Given the description of an element on the screen output the (x, y) to click on. 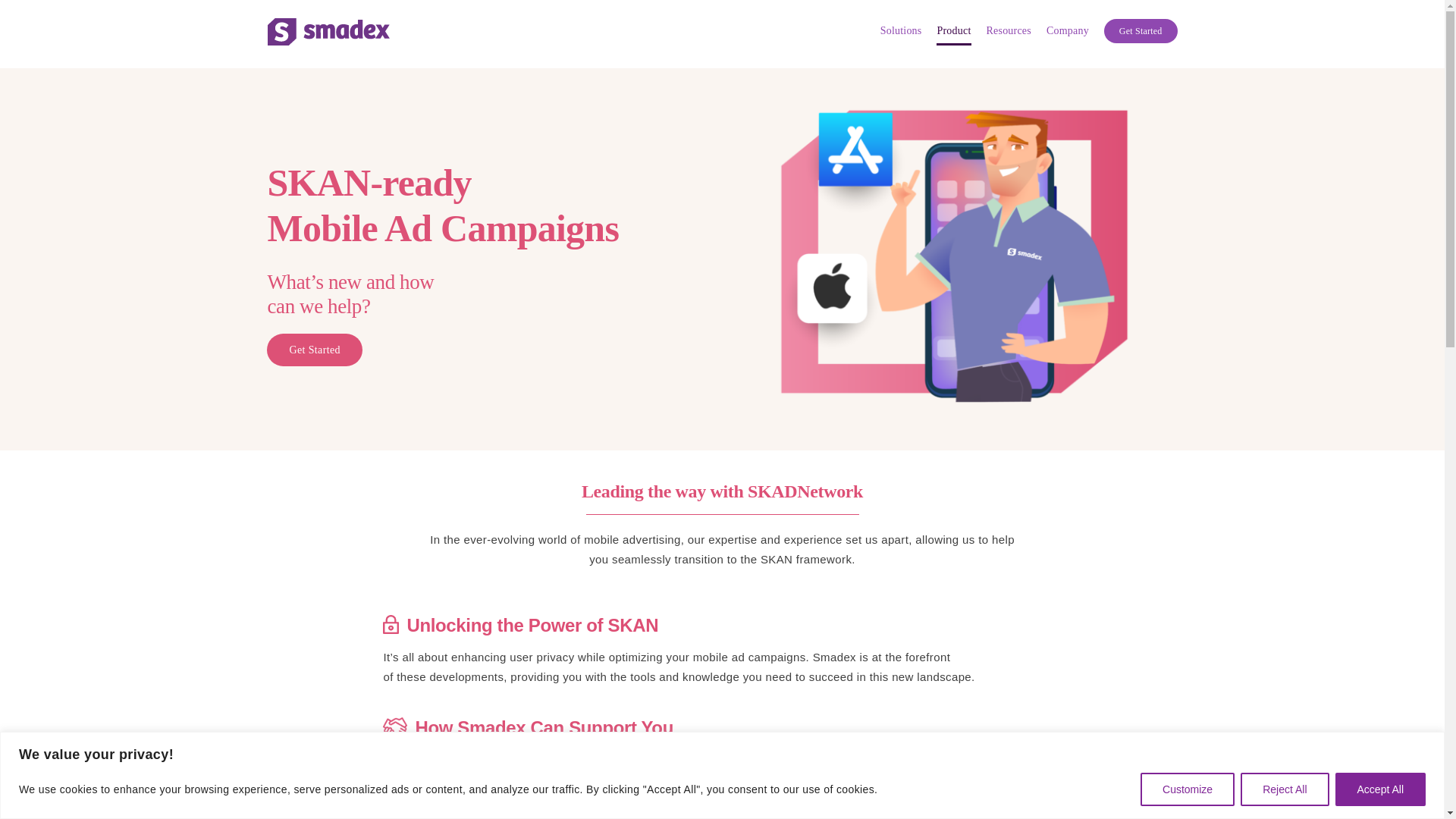
Resources (1007, 31)
Product (953, 31)
Get Started (1140, 31)
Reject All (1283, 788)
Accept All (1380, 788)
Customize (1187, 788)
Solutions (900, 31)
Company (1067, 31)
